Given the description of an element on the screen output the (x, y) to click on. 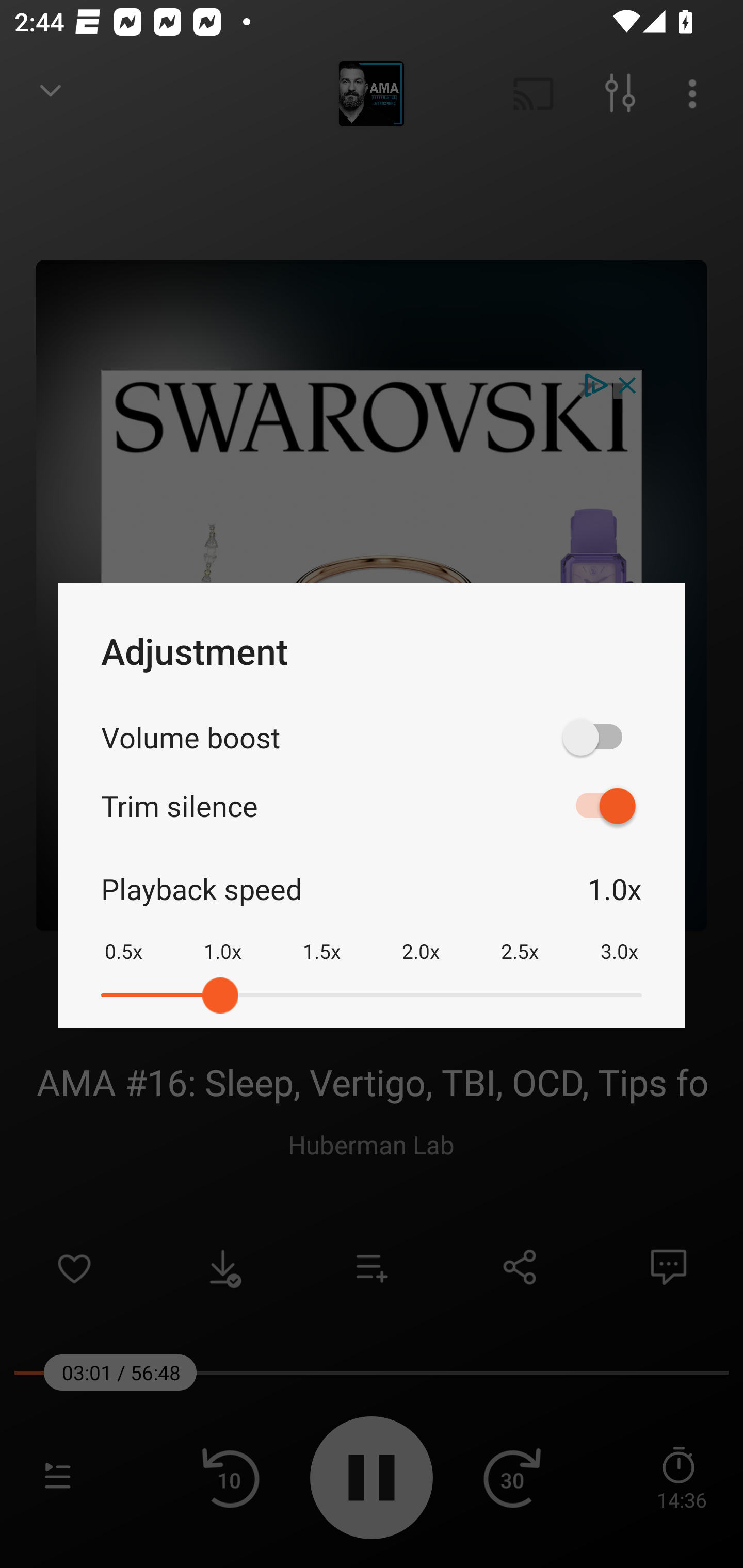
0.5x (123, 937)
1.0x (222, 937)
1.5x (321, 937)
2.0x (420, 937)
2.5x (519, 937)
3.0x (618, 937)
